Given the description of an element on the screen output the (x, y) to click on. 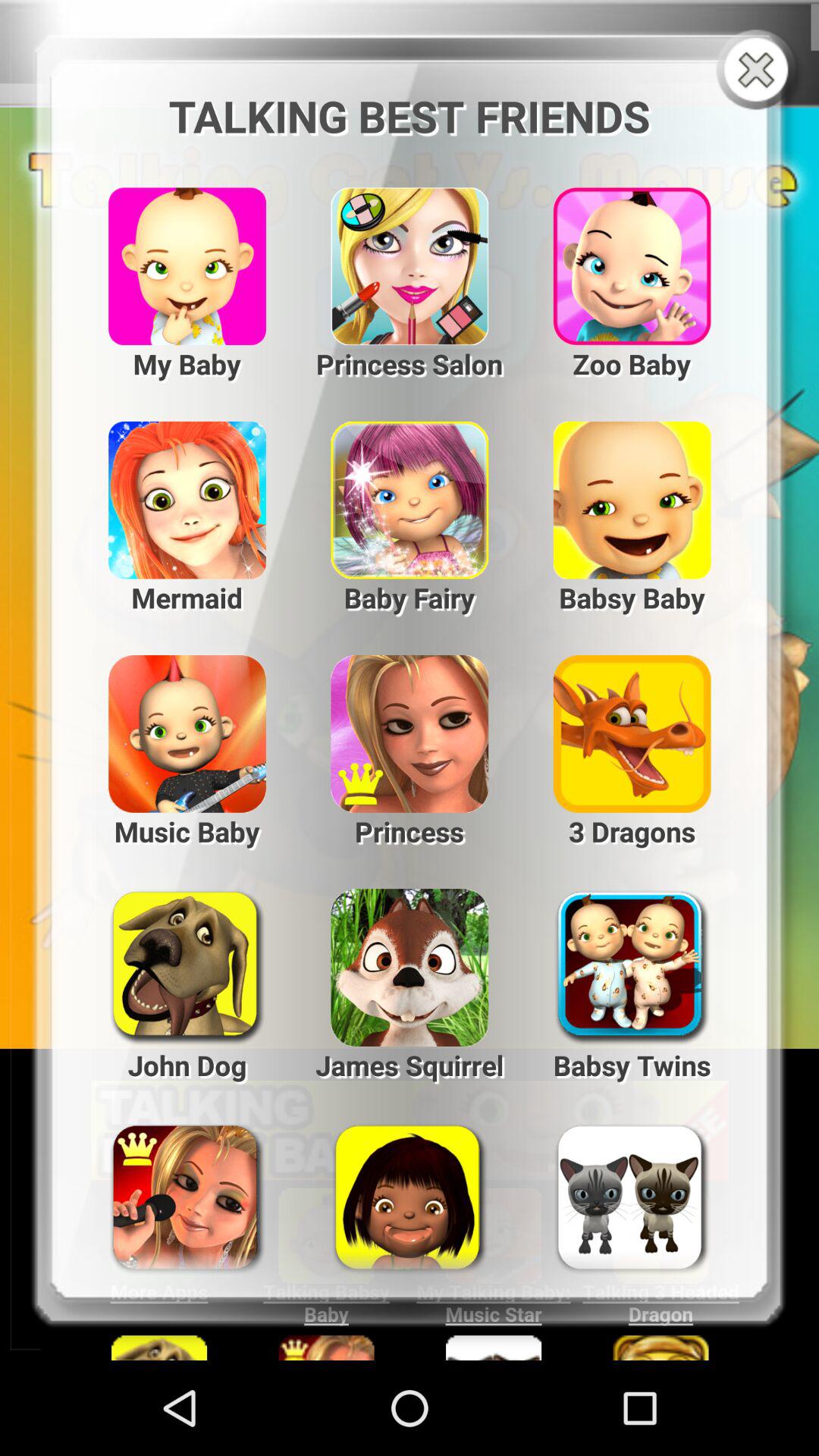
close page (759, 71)
